Given the description of an element on the screen output the (x, y) to click on. 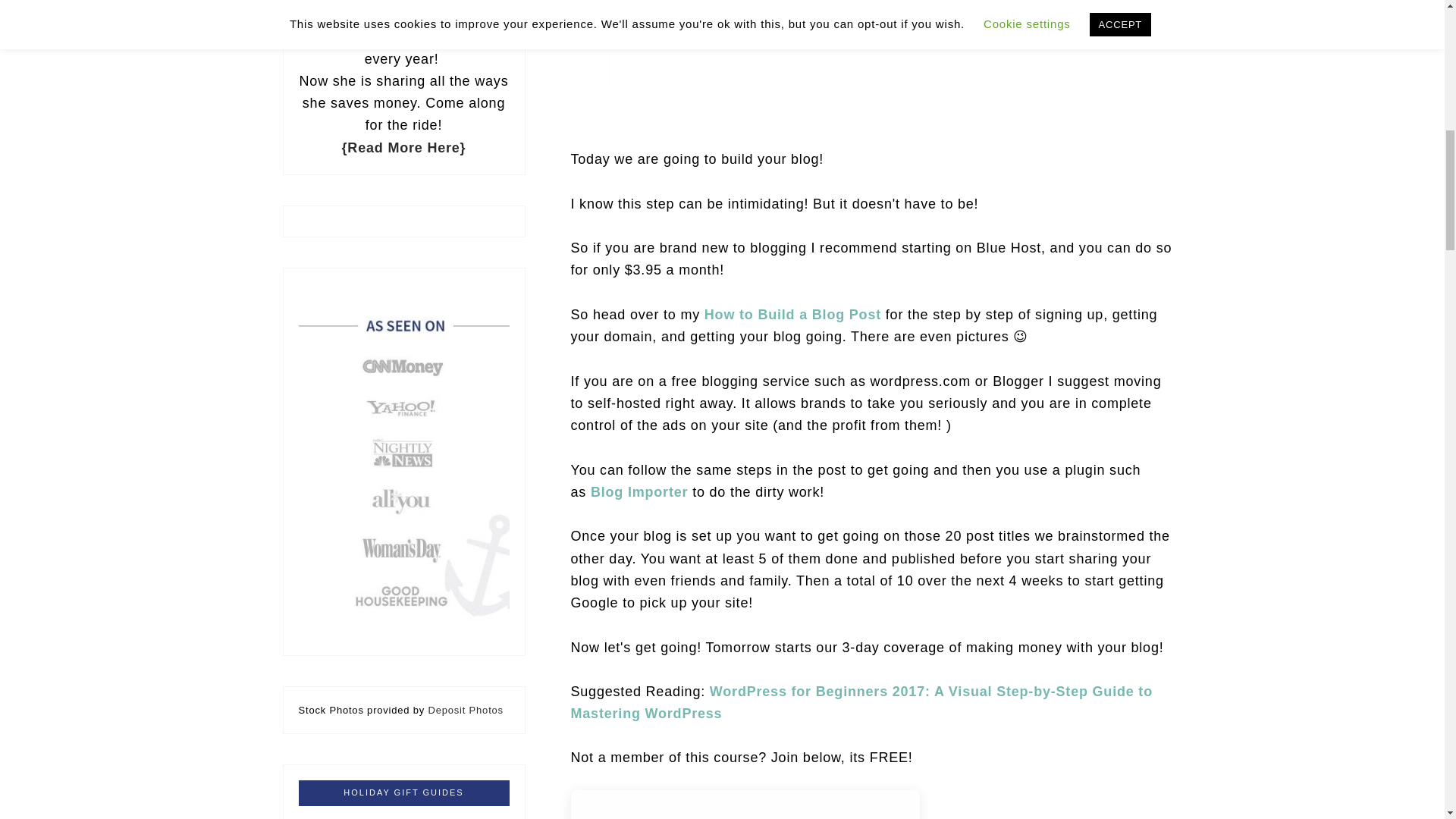
How to Build a Blog Post (792, 314)
Blog Importer (639, 491)
